Given the description of an element on the screen output the (x, y) to click on. 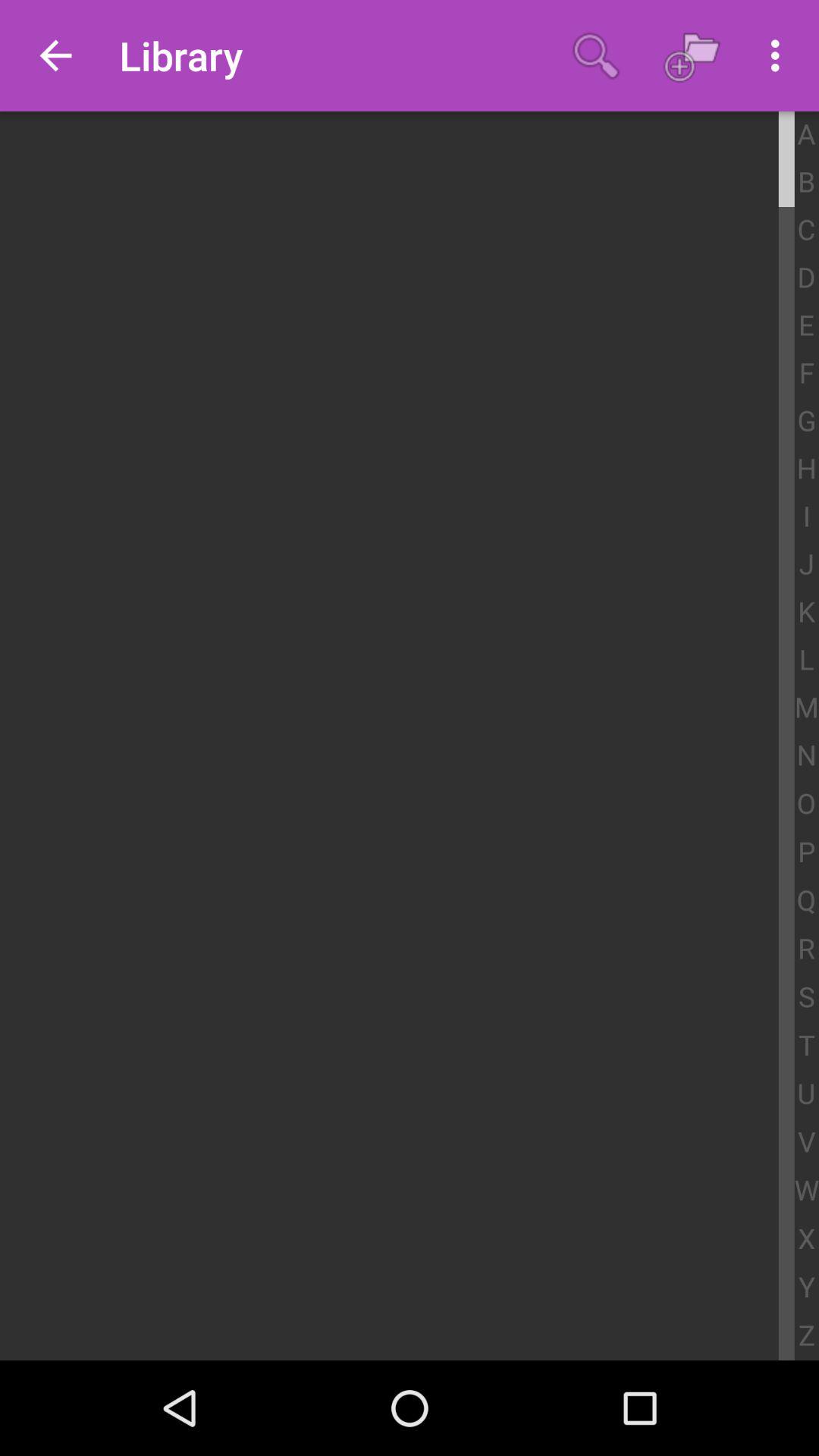
select item above the z icon (806, 1287)
